Given the description of an element on the screen output the (x, y) to click on. 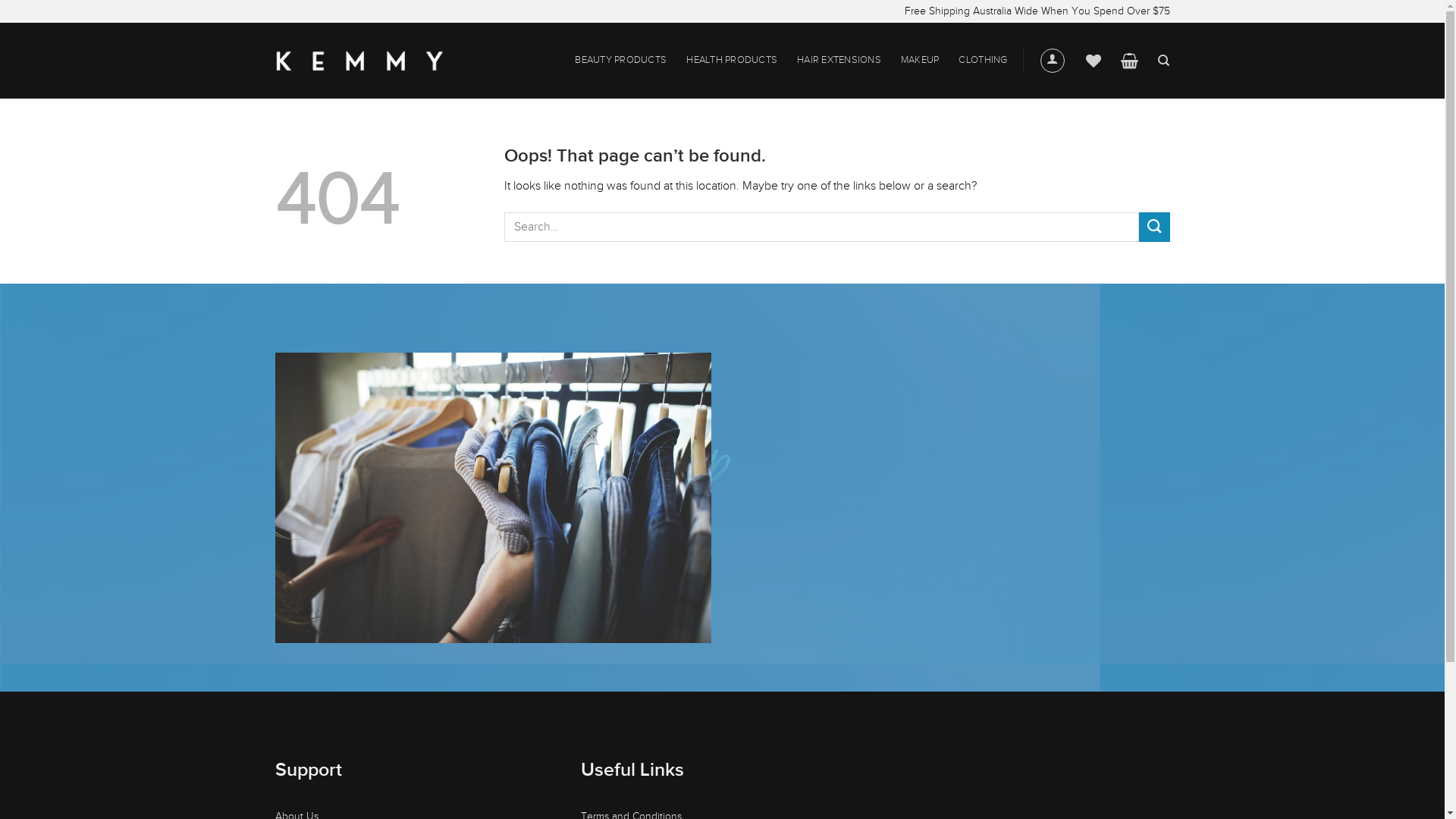
CLOTHING Element type: text (982, 60)
HAIR EXTENSIONS Element type: text (839, 60)
Cart Element type: hover (1129, 60)
Kemmy Shop - Live Healthier, Happier Lives Element type: hover (358, 60)
HEALTH PRODUCTS Element type: text (731, 60)
BEAUTY PRODUCTS Element type: text (620, 60)
MAKEUP Element type: text (919, 60)
